Given the description of an element on the screen output the (x, y) to click on. 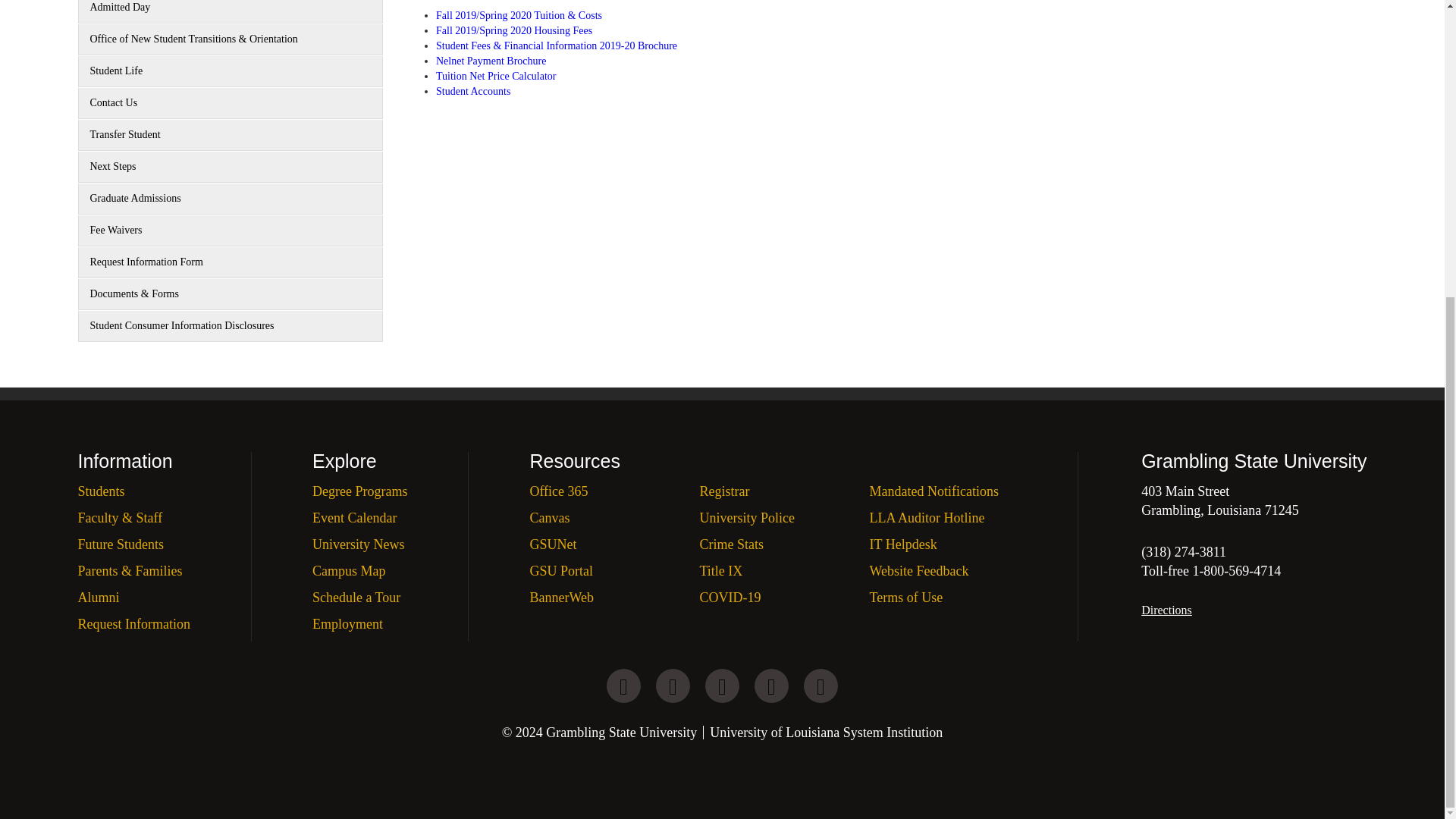
Facebook (721, 685)
Facebook (820, 685)
Facebook (673, 685)
Facebook (623, 685)
Facebook (771, 685)
